Given the description of an element on the screen output the (x, y) to click on. 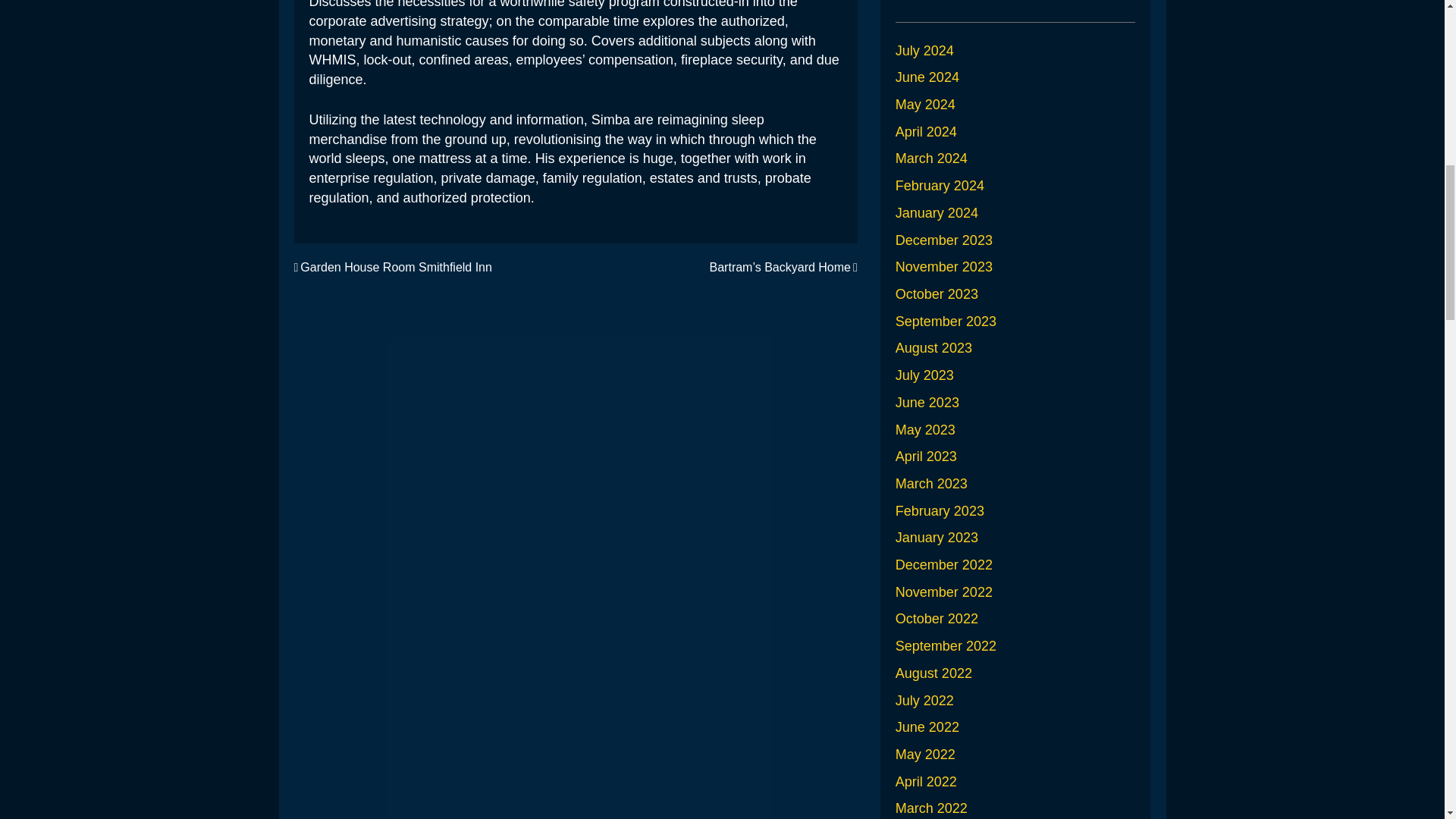
April 2023 (925, 456)
January 2023 (936, 537)
July 2024 (924, 50)
December 2022 (943, 564)
June 2024 (927, 77)
March 2023 (931, 483)
Garden House Room Smithfield Inn (393, 267)
December 2023 (943, 240)
April 2024 (925, 131)
February 2023 (939, 510)
May 2024 (925, 104)
August 2023 (933, 347)
February 2024 (939, 185)
January 2024 (936, 212)
June 2023 (927, 402)
